Given the description of an element on the screen output the (x, y) to click on. 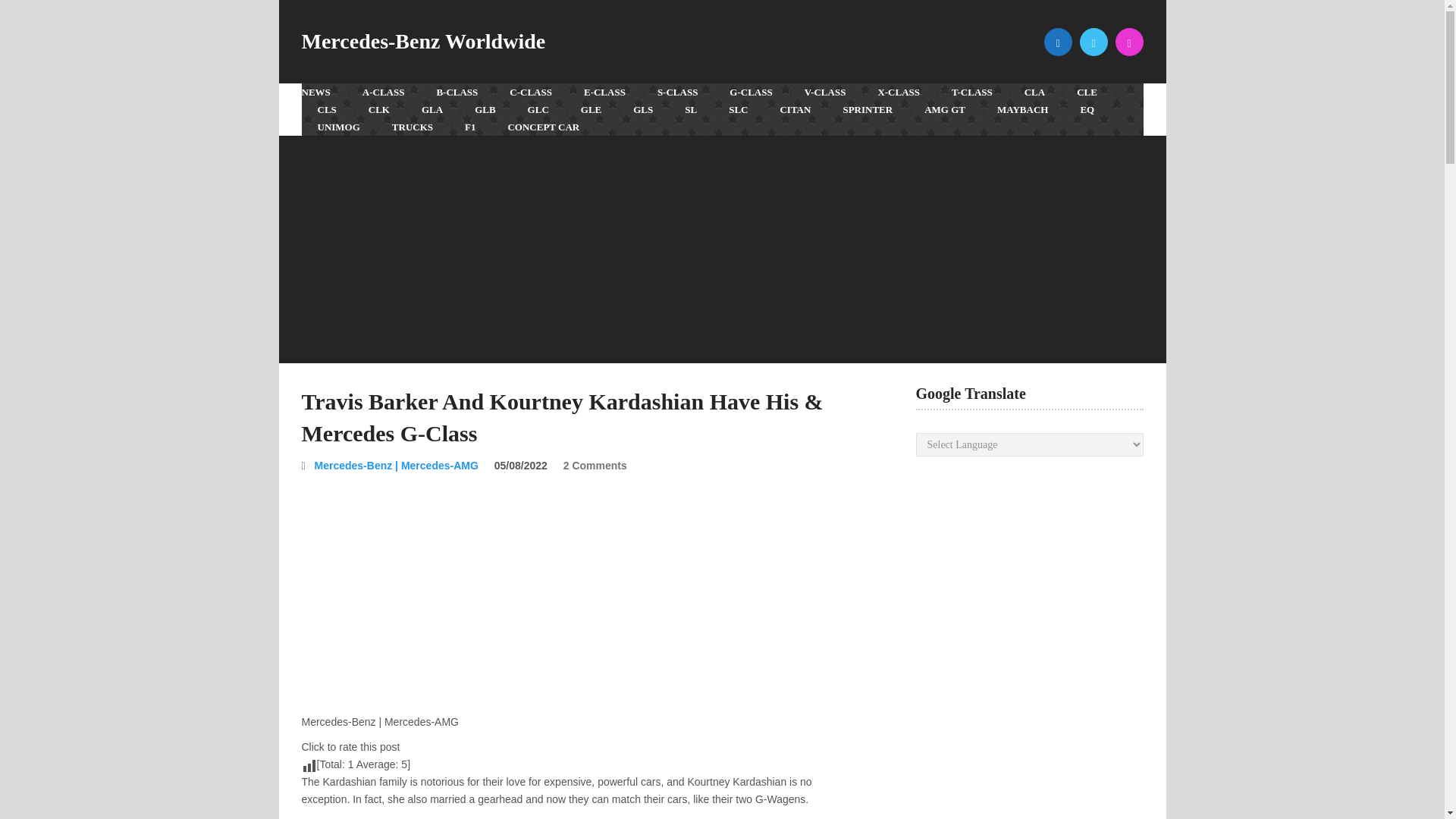
GLA (432, 108)
A-Class (383, 91)
UNIMOG (338, 126)
EQ (1086, 108)
2 Comments (595, 465)
AMG GT (944, 108)
V-CLASS (825, 91)
GLB-Class (484, 108)
E-Class (604, 91)
CLS (326, 108)
CONCEPT CAR (543, 126)
G-CLASS (750, 91)
CLE (1087, 91)
E-CLASS (604, 91)
V-Class (825, 91)
